Given the description of an element on the screen output the (x, y) to click on. 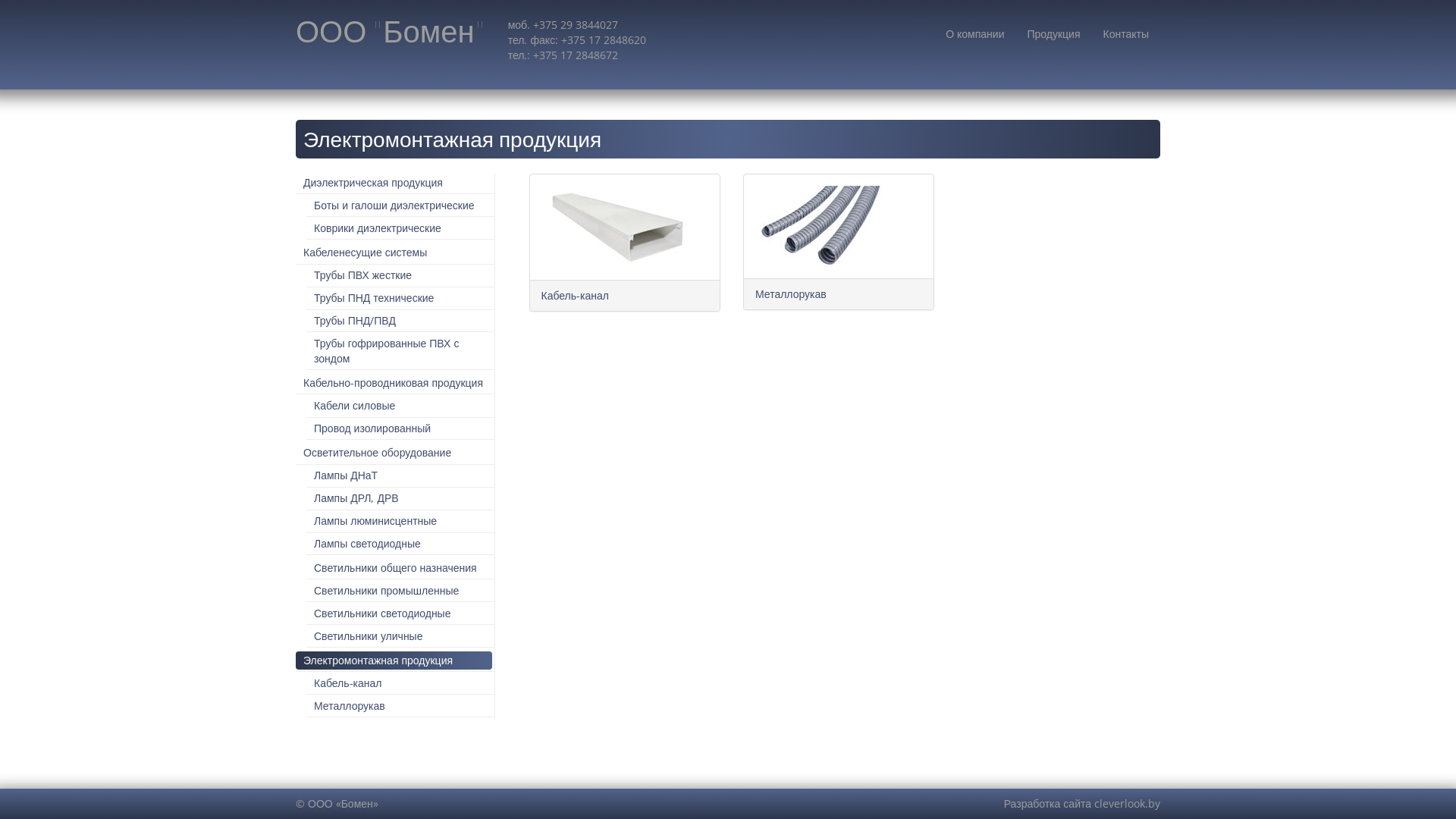
cleverlook.by Element type: text (1127, 803)
